Given the description of an element on the screen output the (x, y) to click on. 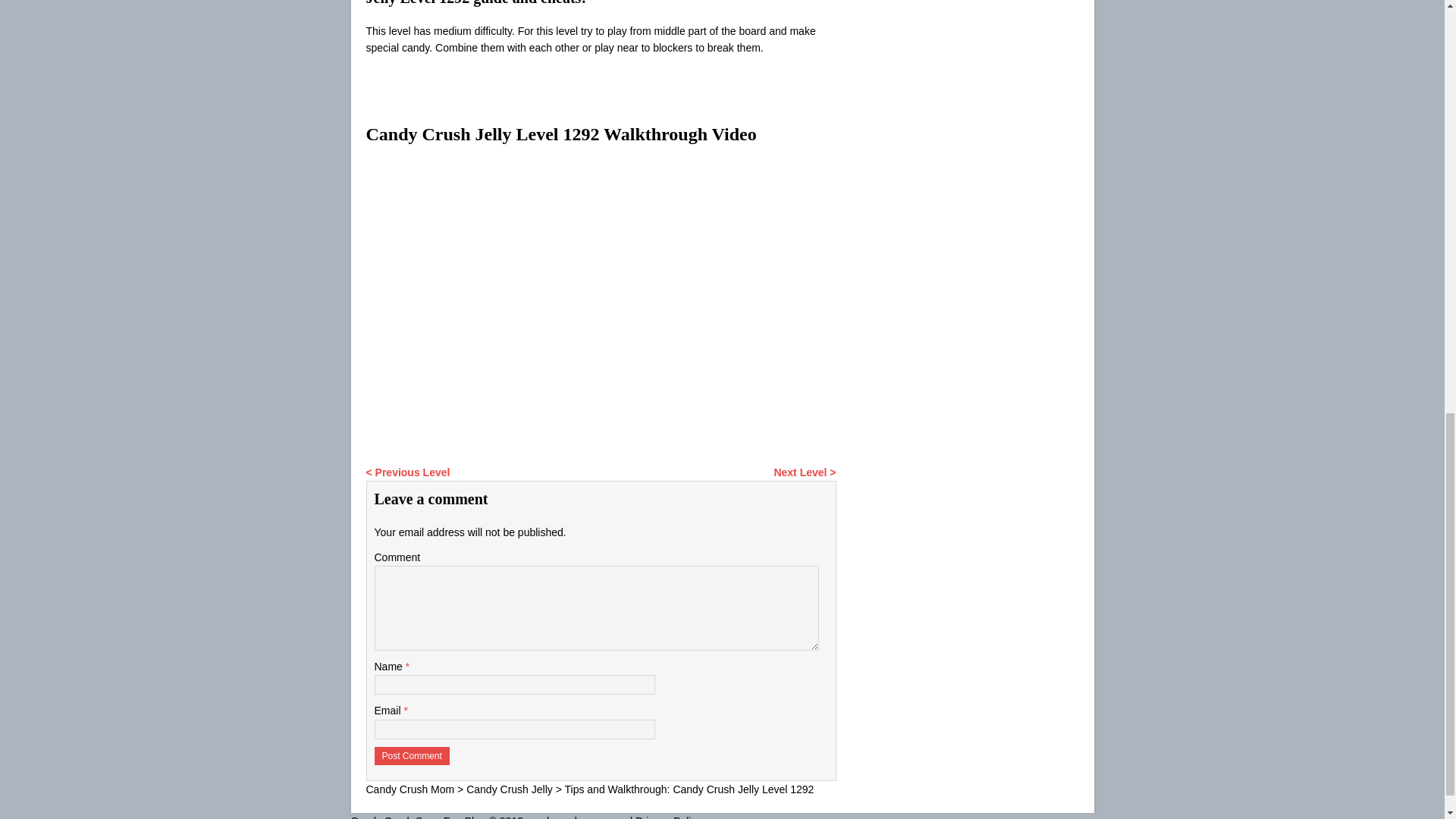
Go to Candy Crush Mom. (409, 788)
Post Comment (411, 755)
Post Comment (411, 755)
Candy Crush Jelly (509, 788)
Candy Crush Mom (409, 788)
Go to the Candy Crush Jelly category archives. (509, 788)
